Given the description of an element on the screen output the (x, y) to click on. 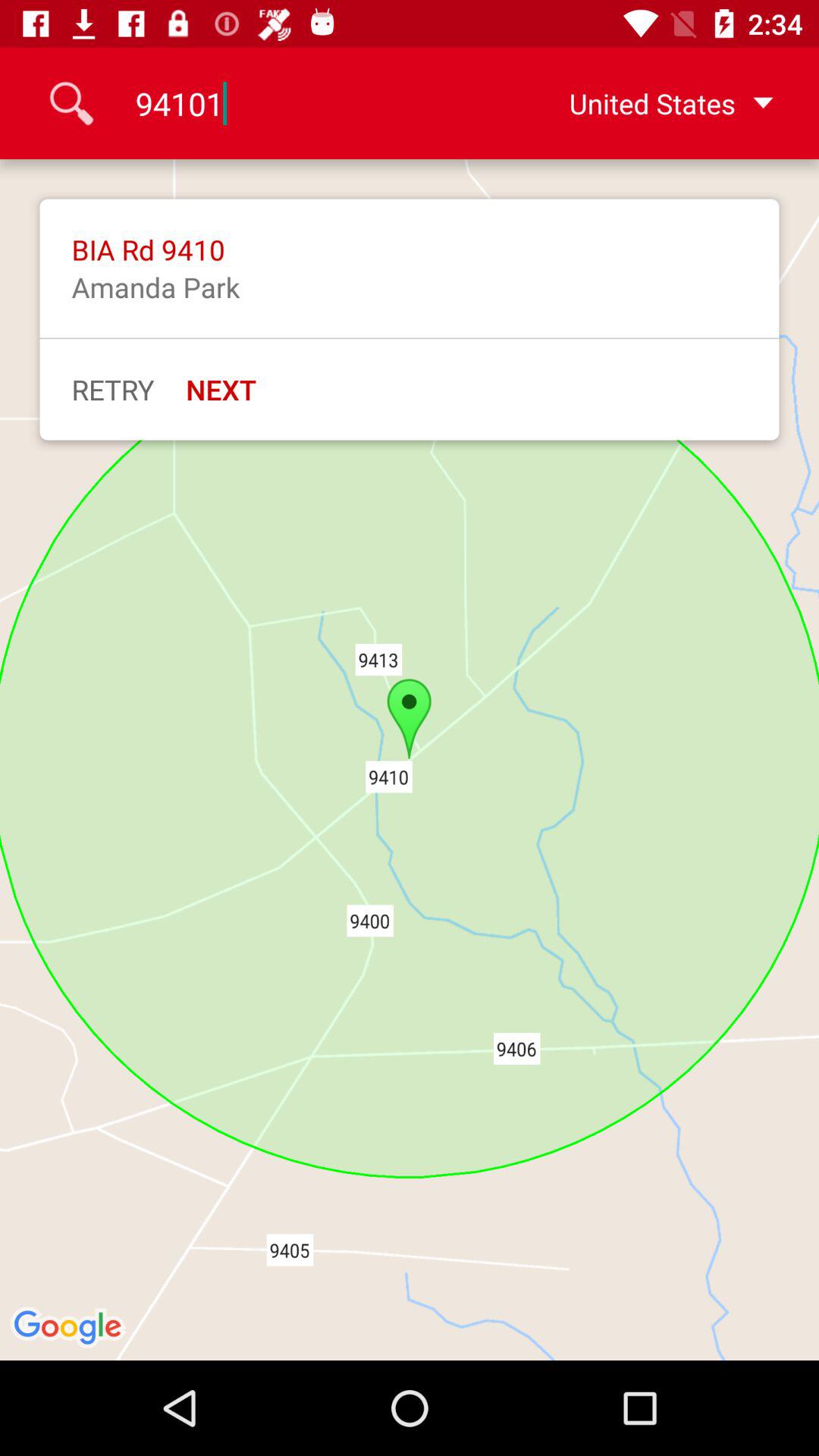
turn on item next to united states (309, 103)
